Given the description of an element on the screen output the (x, y) to click on. 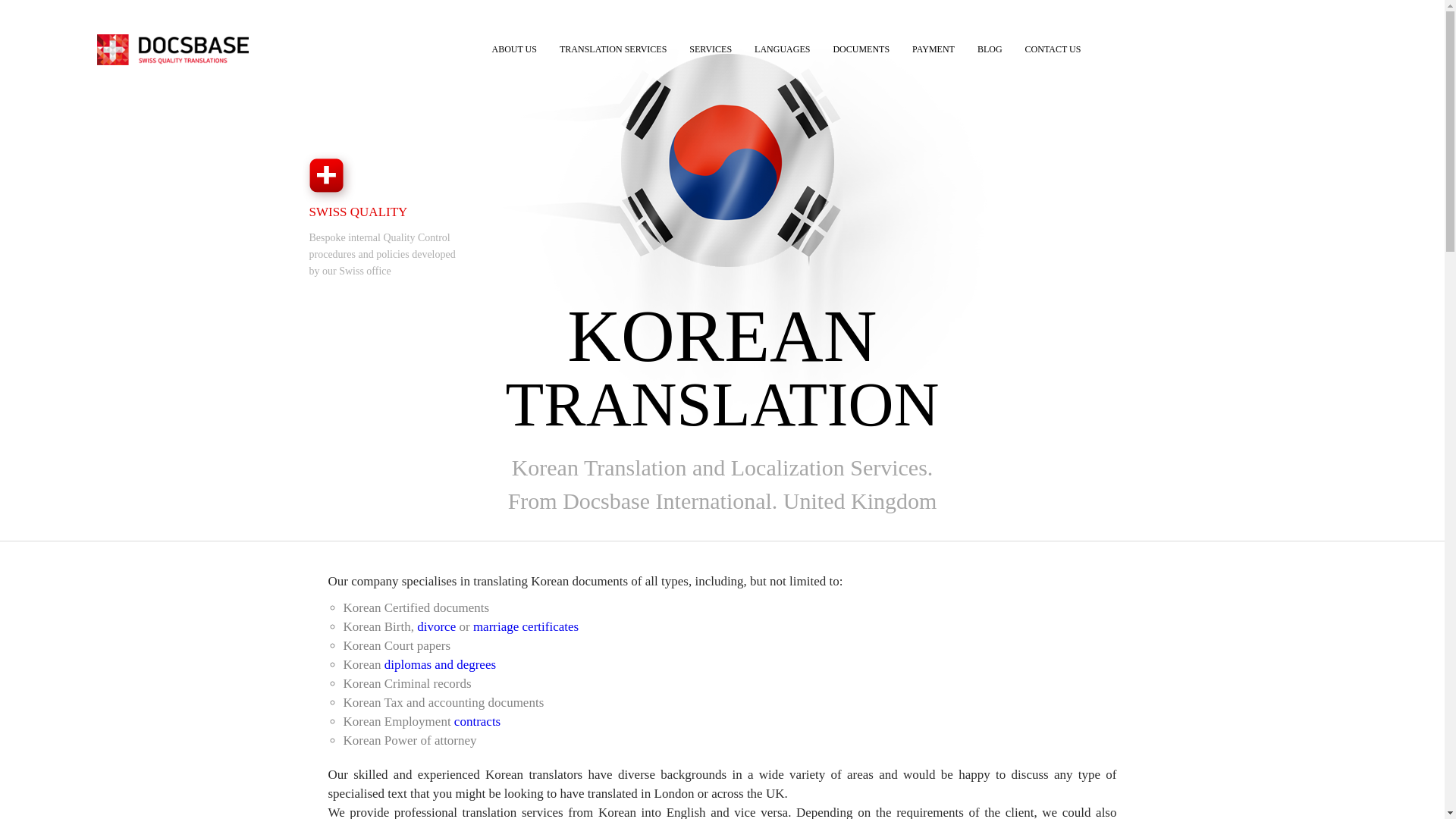
TRANSLATION SERVICES (613, 46)
ABOUT US (514, 46)
About Us (514, 46)
